Given the description of an element on the screen output the (x, y) to click on. 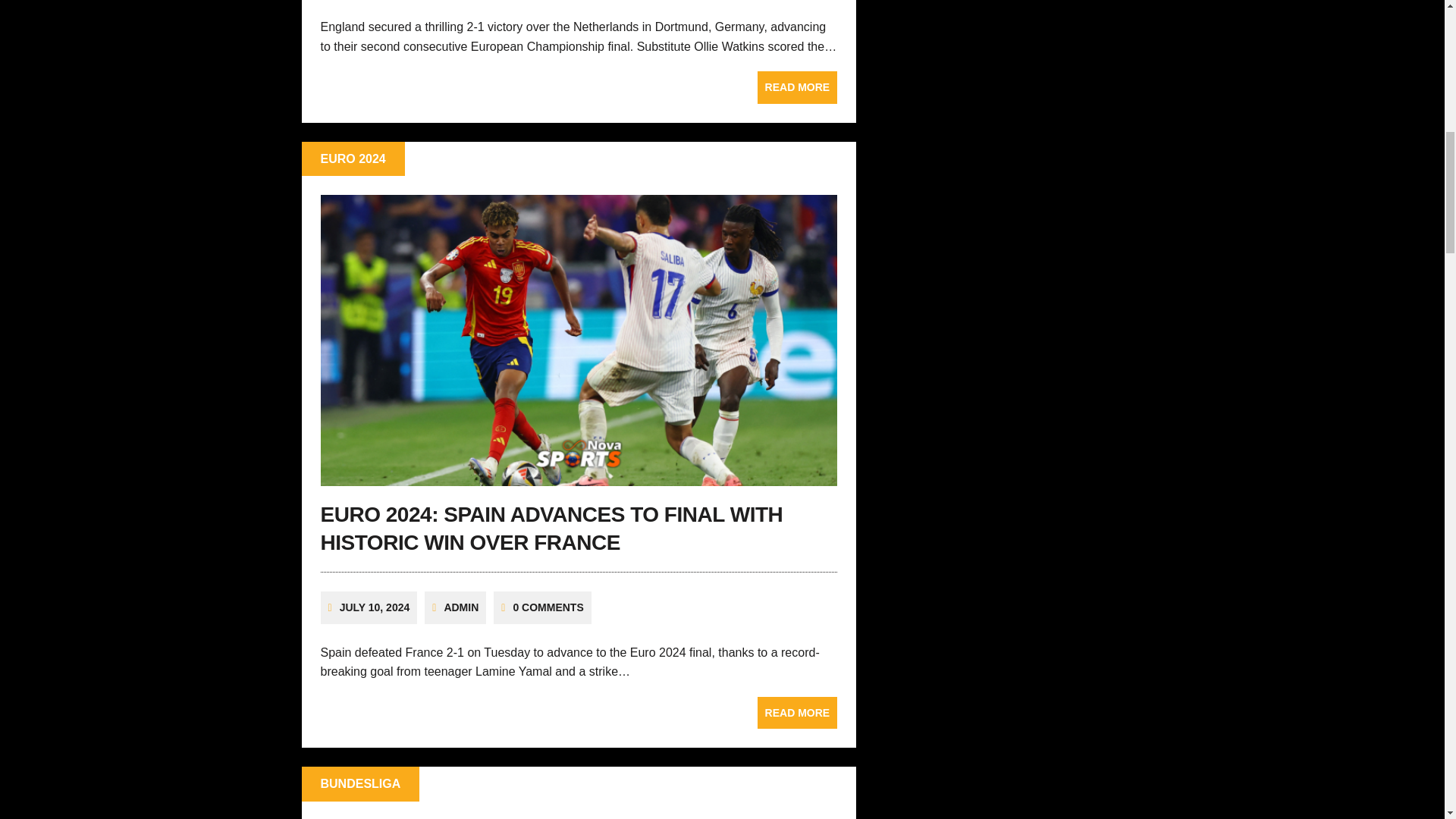
READ MORE (797, 87)
JULY 10, 2024 (374, 607)
READ MORE (797, 712)
ADMIN (461, 607)
